Given the description of an element on the screen output the (x, y) to click on. 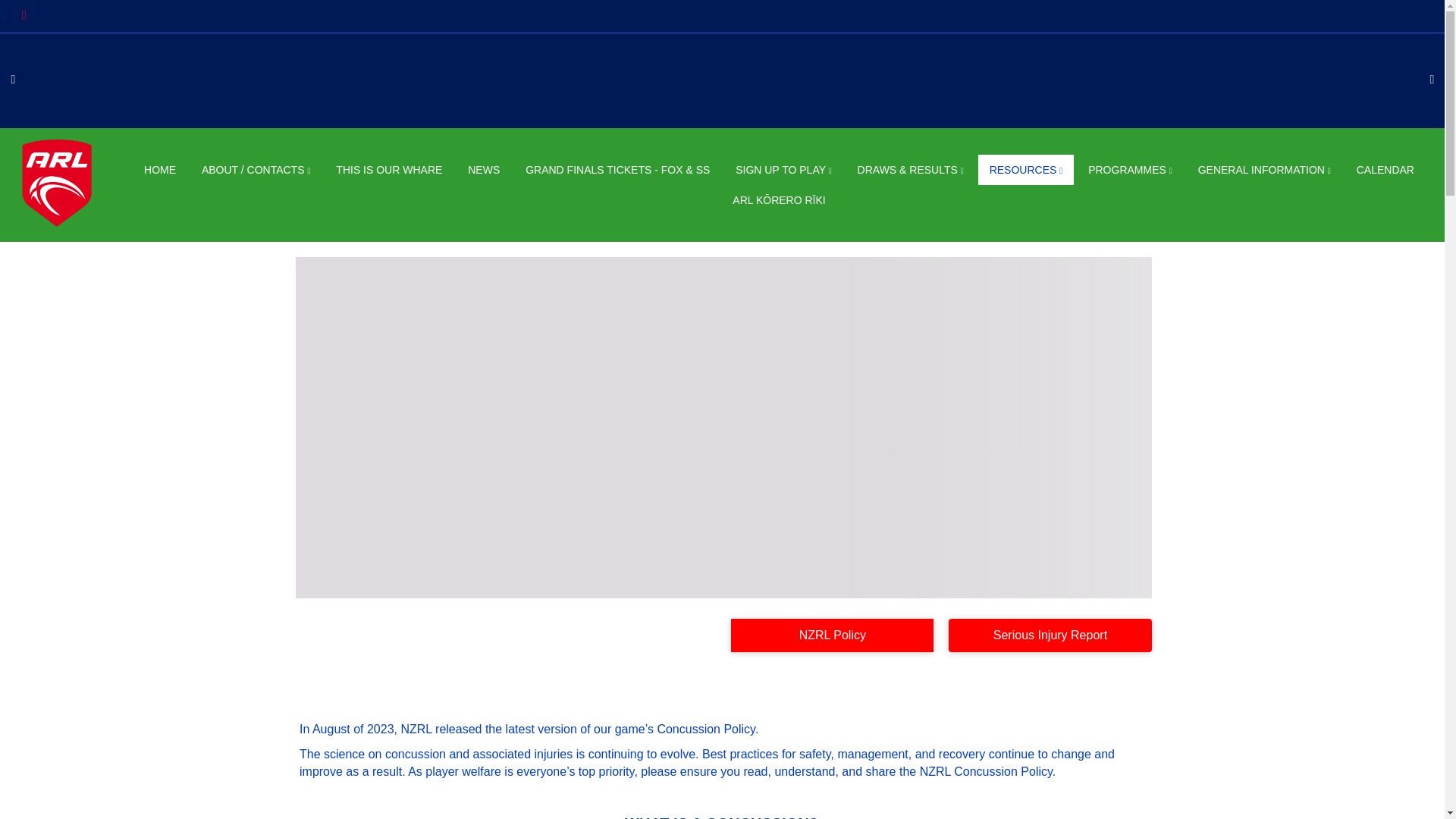
PROGRAMMES (1130, 169)
THIS IS OUR WHARE (388, 169)
HOME (159, 169)
NEWS (484, 169)
SIGN UP TO PLAY (783, 169)
RESOURCES (1026, 169)
